Given the description of an element on the screen output the (x, y) to click on. 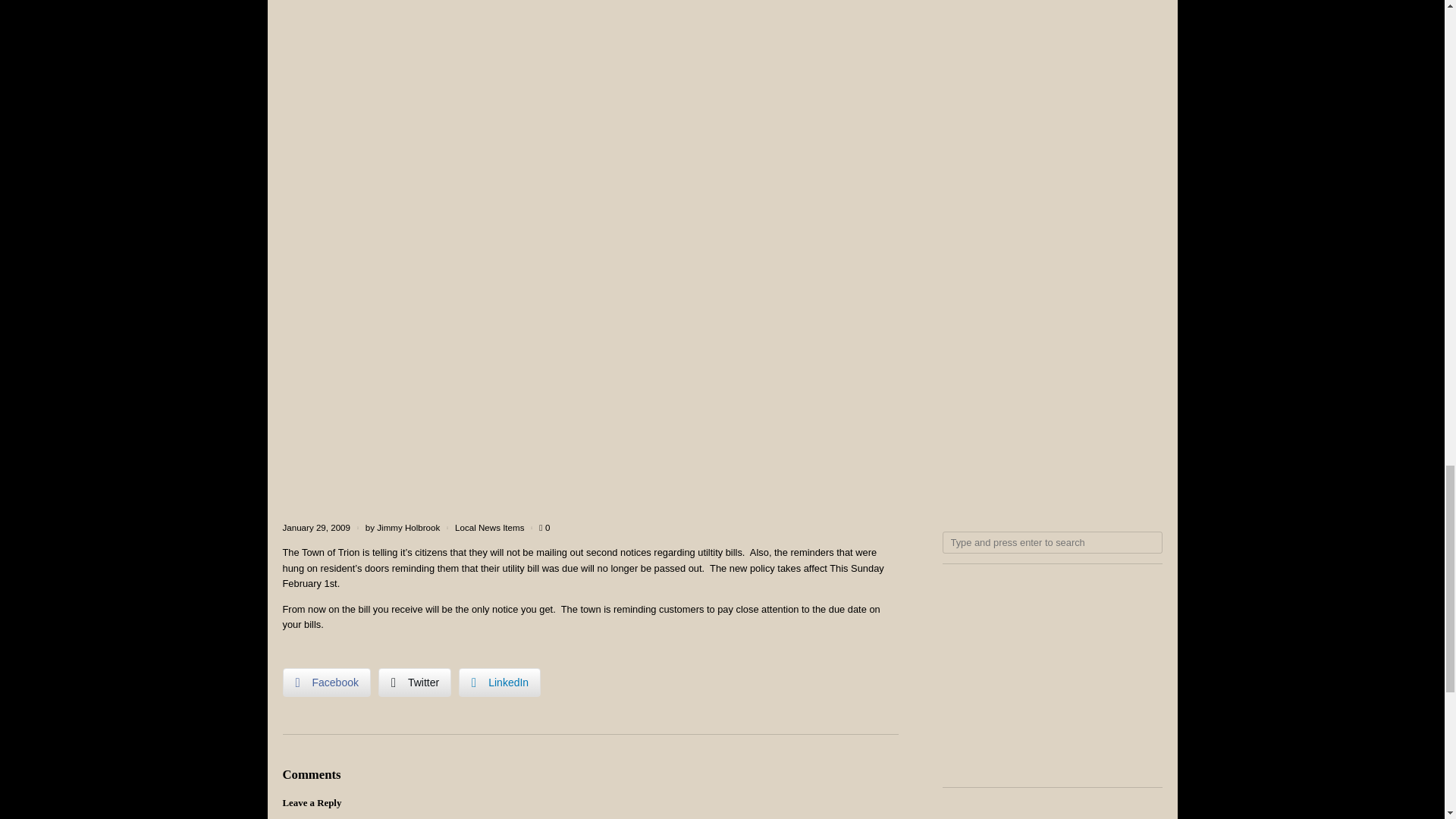
Twitter (414, 682)
Jimmy Holbrook (408, 527)
Facebook (325, 682)
LinkedIn (499, 682)
0 (544, 527)
Posts by Jimmy Holbrook (408, 527)
Local News Items (489, 527)
